Given the description of an element on the screen output the (x, y) to click on. 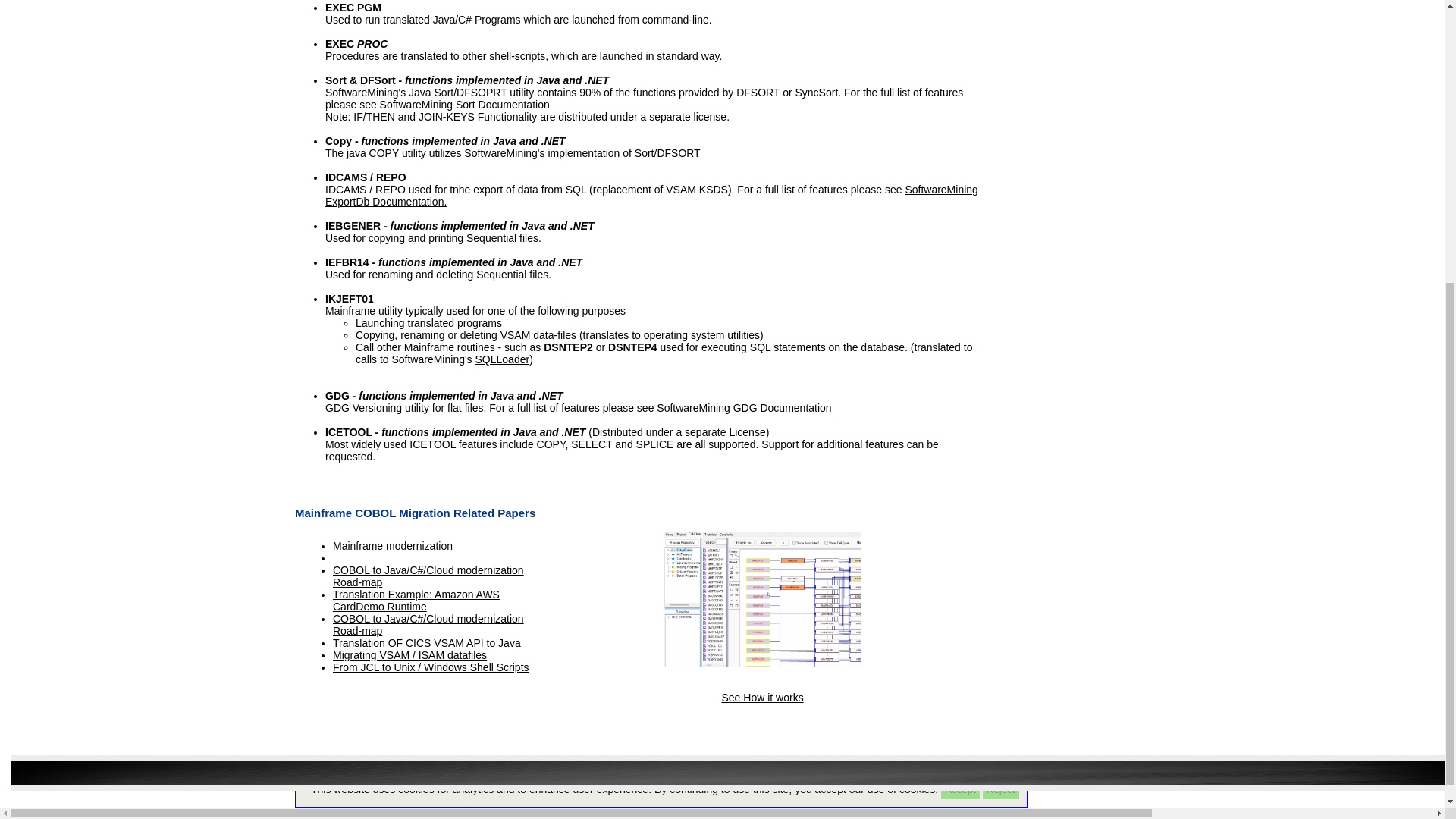
Accept (959, 352)
SoftwareMining ExportDb Documentation. (651, 195)
SQLLoader (502, 358)
Reject (1000, 352)
Mainframe modernization (392, 545)
SoftwareMining GDG Documentation (743, 408)
Translation Example: Amazon AWS CardDemo Runtime (416, 600)
